Given the description of an element on the screen output the (x, y) to click on. 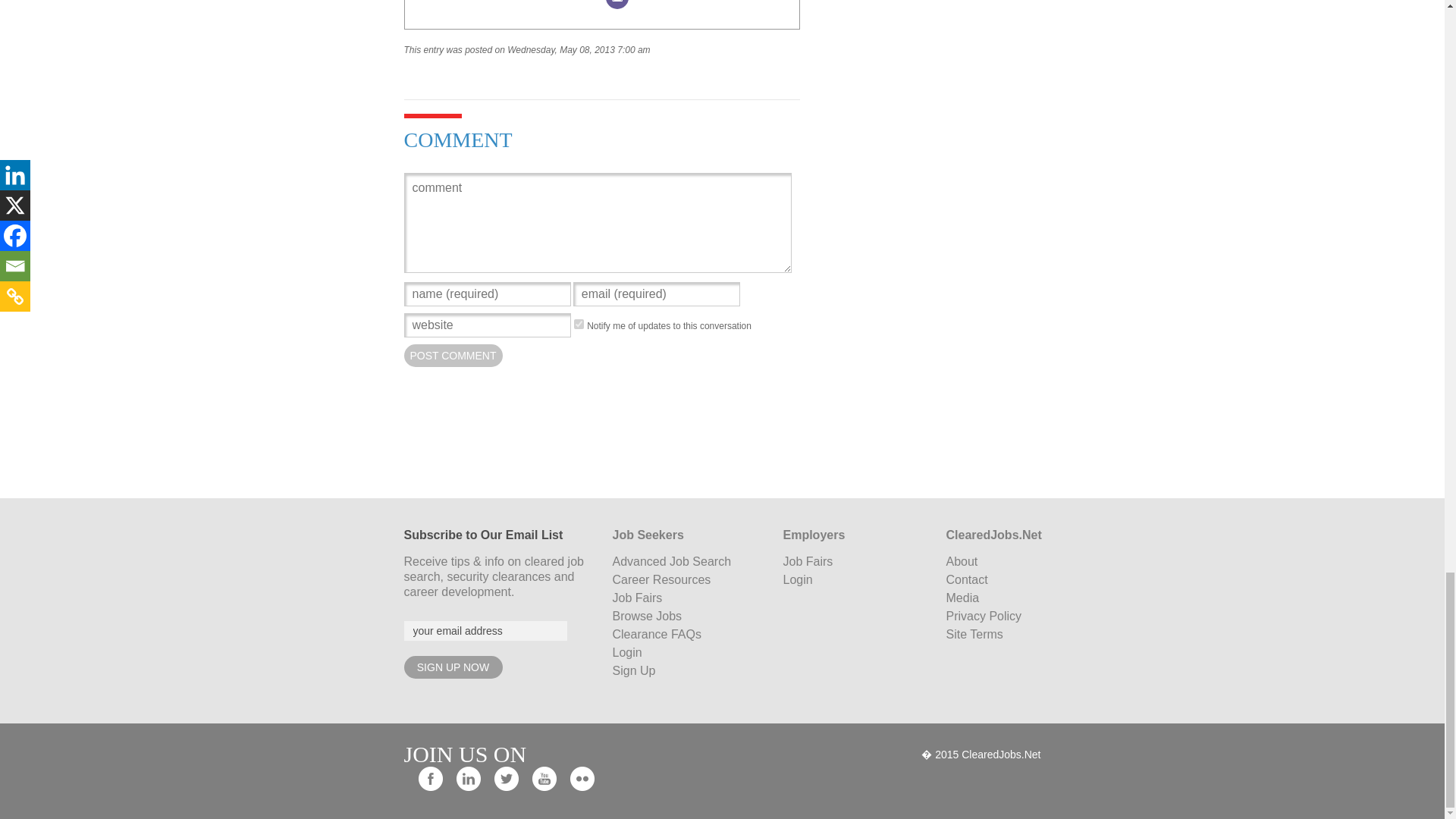
Post Comment (452, 354)
enter email address (484, 630)
yes (579, 324)
Post Comment (452, 354)
SIGN UP NOW (452, 667)
your email address (484, 630)
